Given the description of an element on the screen output the (x, y) to click on. 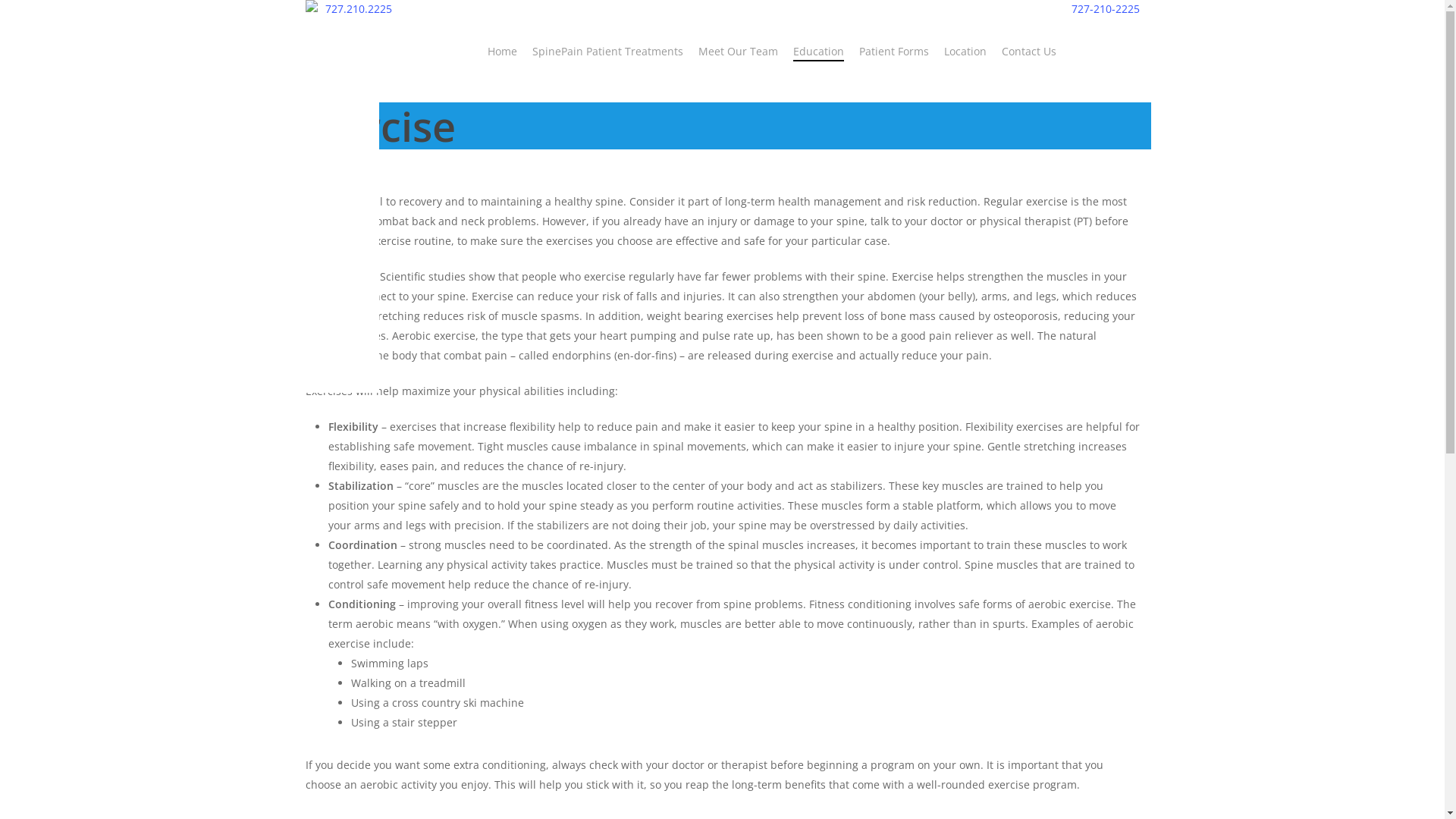
Location Element type: text (964, 51)
Education Element type: text (818, 51)
Patient Forms Element type: text (893, 51)
SpinePain Patient Treatments Element type: text (607, 51)
  727.210.2225 Element type: text (353, 9)
Contact Us Element type: text (1028, 51)
Meet Our Team Element type: text (737, 51)
Home Element type: text (501, 51)
  727-210-2225 Element type: text (1101, 9)
